Given the description of an element on the screen output the (x, y) to click on. 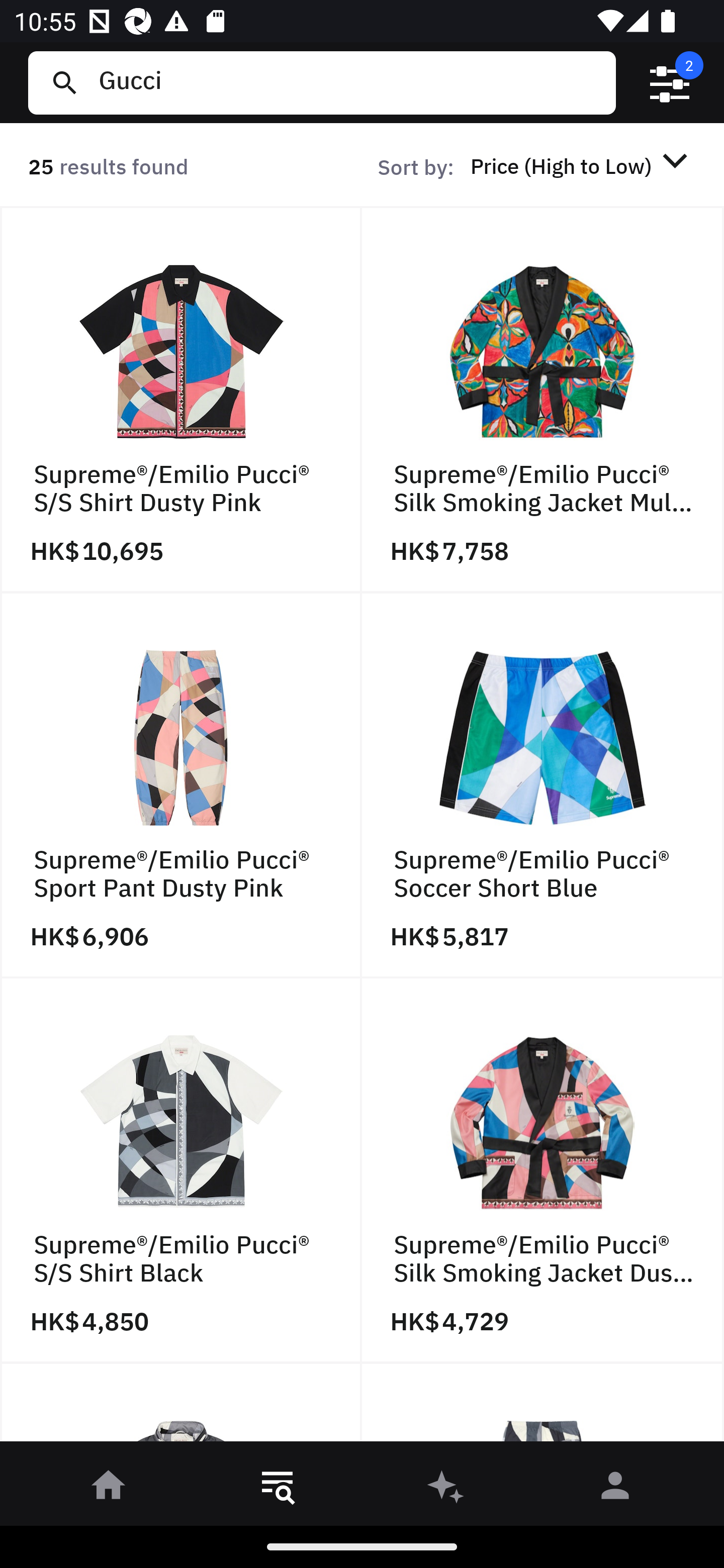
Gucci (349, 82)
 (669, 82)
Price (High to Low)  (582, 165)
Supreme®/Emilio Pucci® Soccer Short Blue HK$ 5,817 (543, 785)
Supreme®/Emilio Pucci® S/S Shirt Black HK$ 4,850 (181, 1171)
󰋜 (108, 1488)
󱎸 (277, 1488)
󰫢 (446, 1488)
󰀄 (615, 1488)
